Given the description of an element on the screen output the (x, y) to click on. 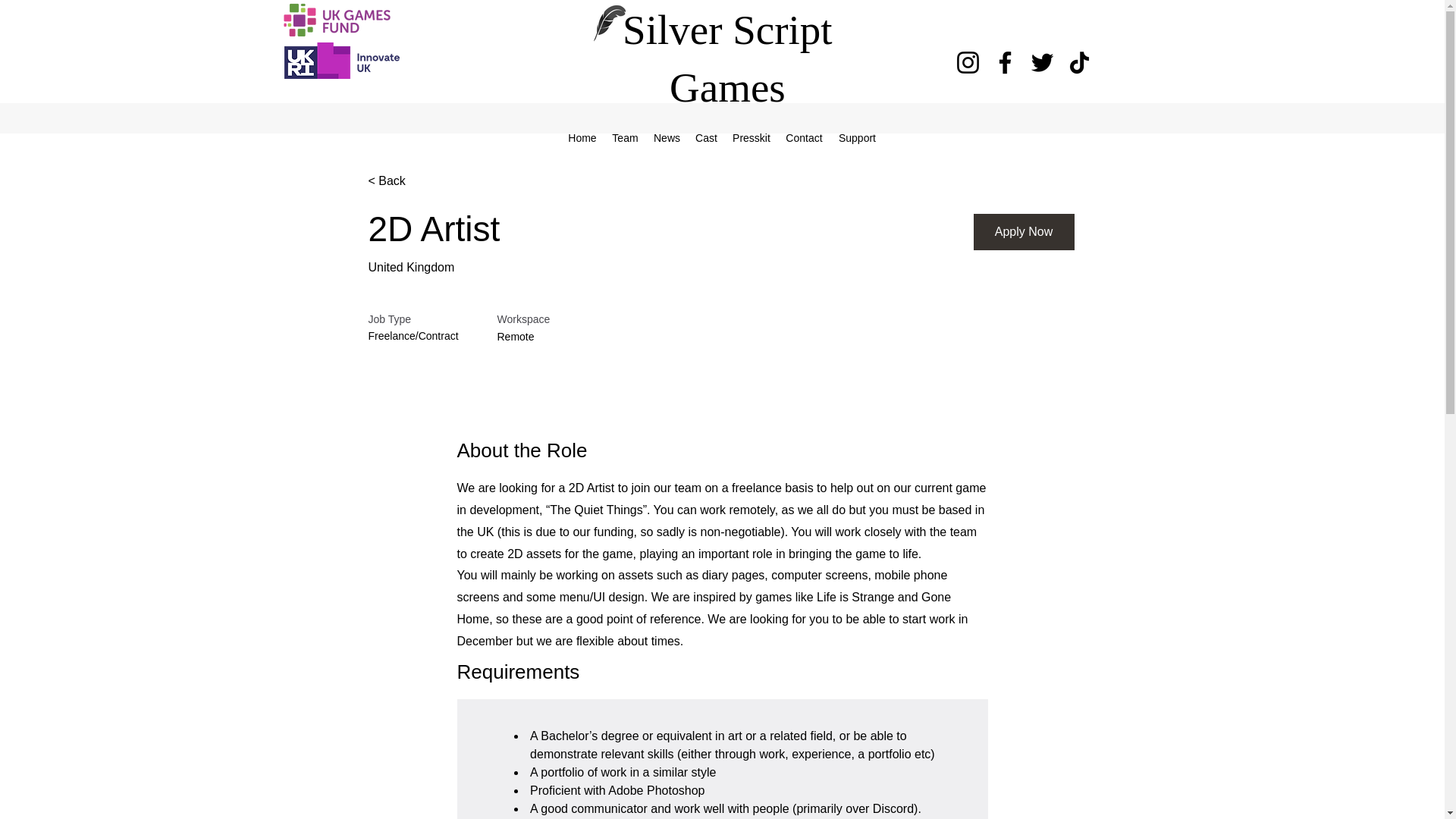
Cast (706, 137)
News (666, 137)
Team (625, 137)
Contact (803, 137)
Presskit (751, 137)
Home (582, 137)
Support (856, 137)
